Given the description of an element on the screen output the (x, y) to click on. 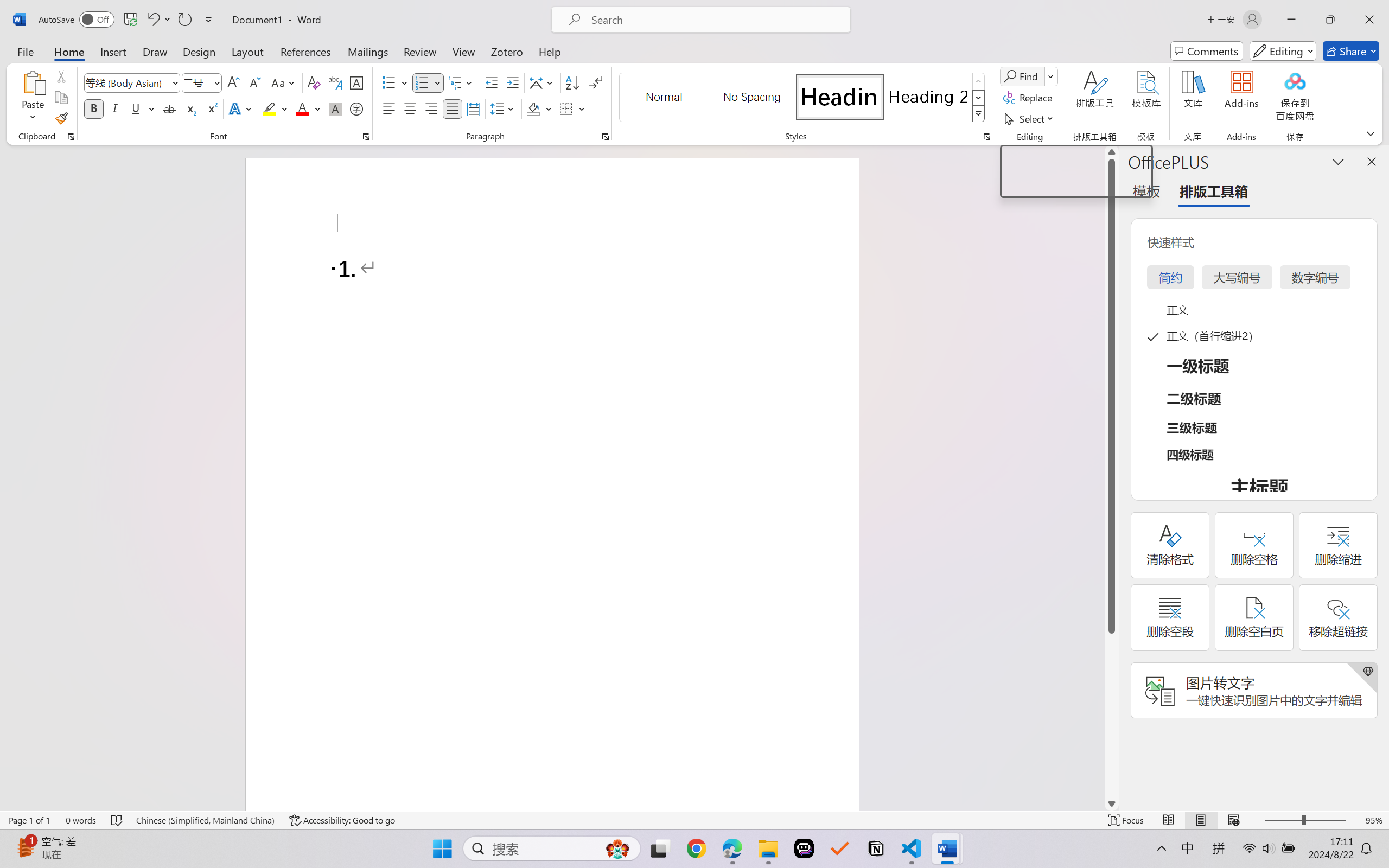
Line down (1111, 803)
